Given the description of an element on the screen output the (x, y) to click on. 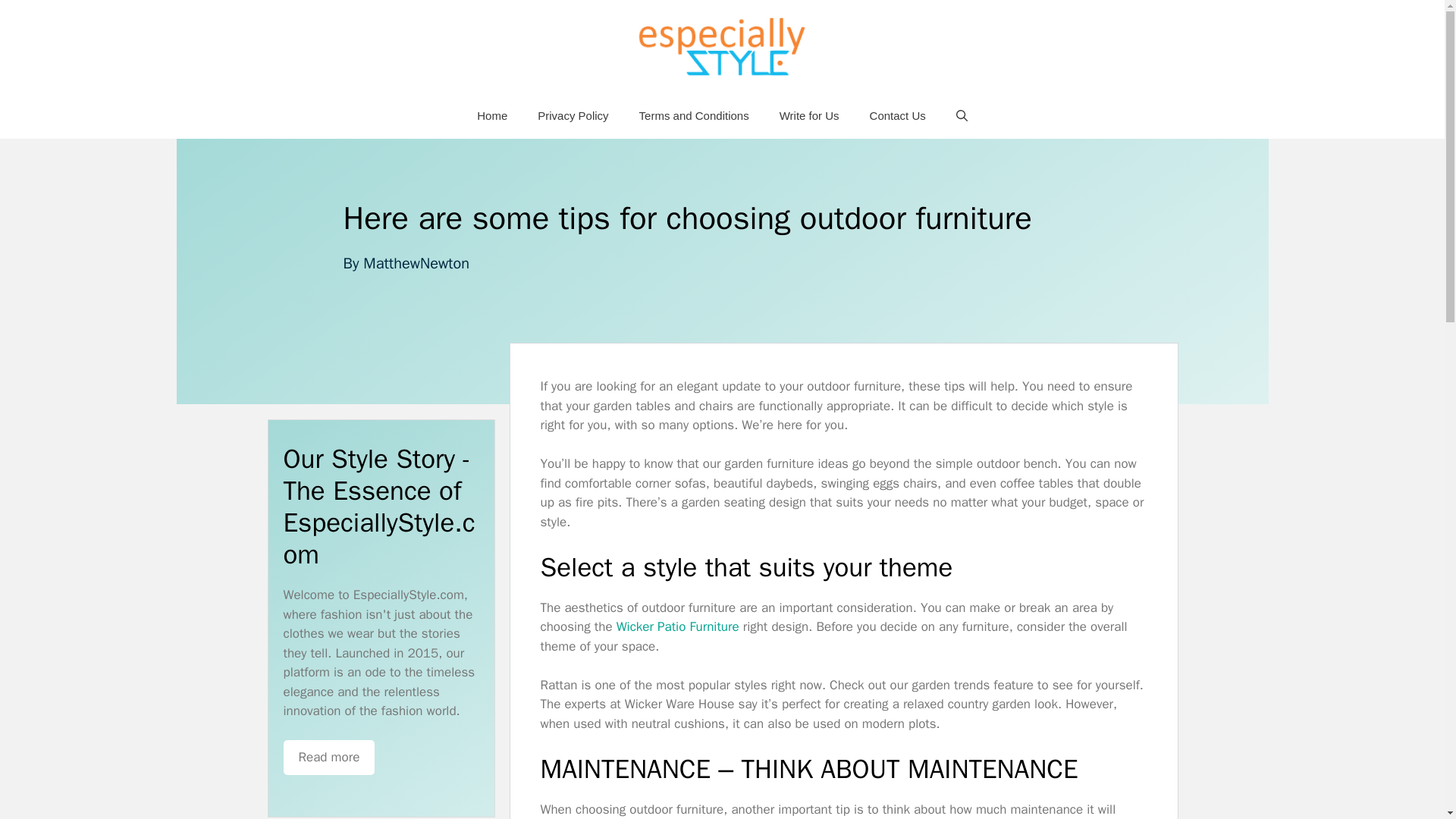
Terms and Conditions (694, 115)
Contact Us (897, 115)
Wicker Patio Furniture (677, 626)
Write for Us (809, 115)
Privacy Policy (572, 115)
MatthewNewton (415, 262)
Read more (329, 757)
Home (491, 115)
